Given the description of an element on the screen output the (x, y) to click on. 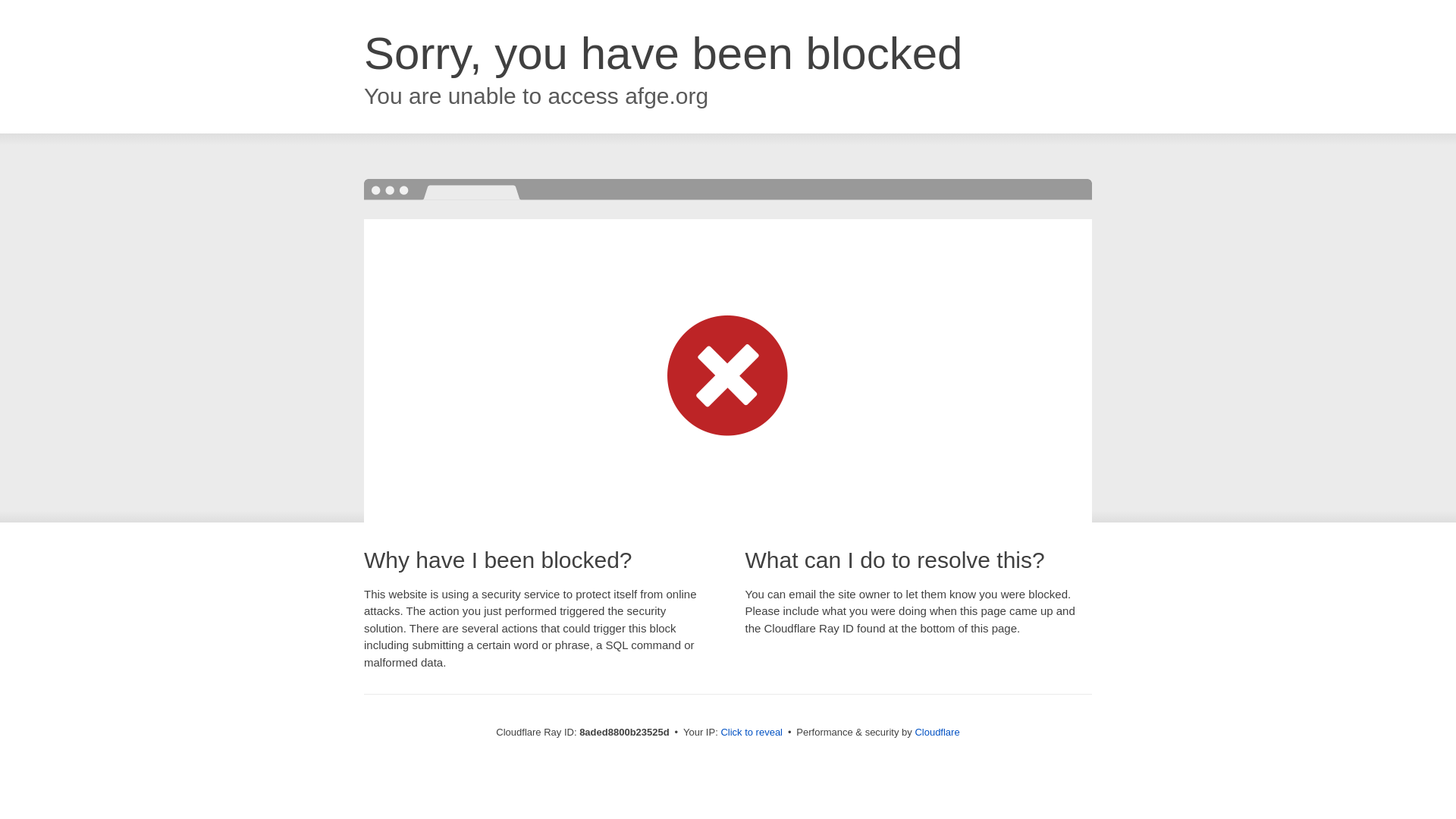
Click to reveal (751, 732)
Cloudflare (936, 731)
